Given the description of an element on the screen output the (x, y) to click on. 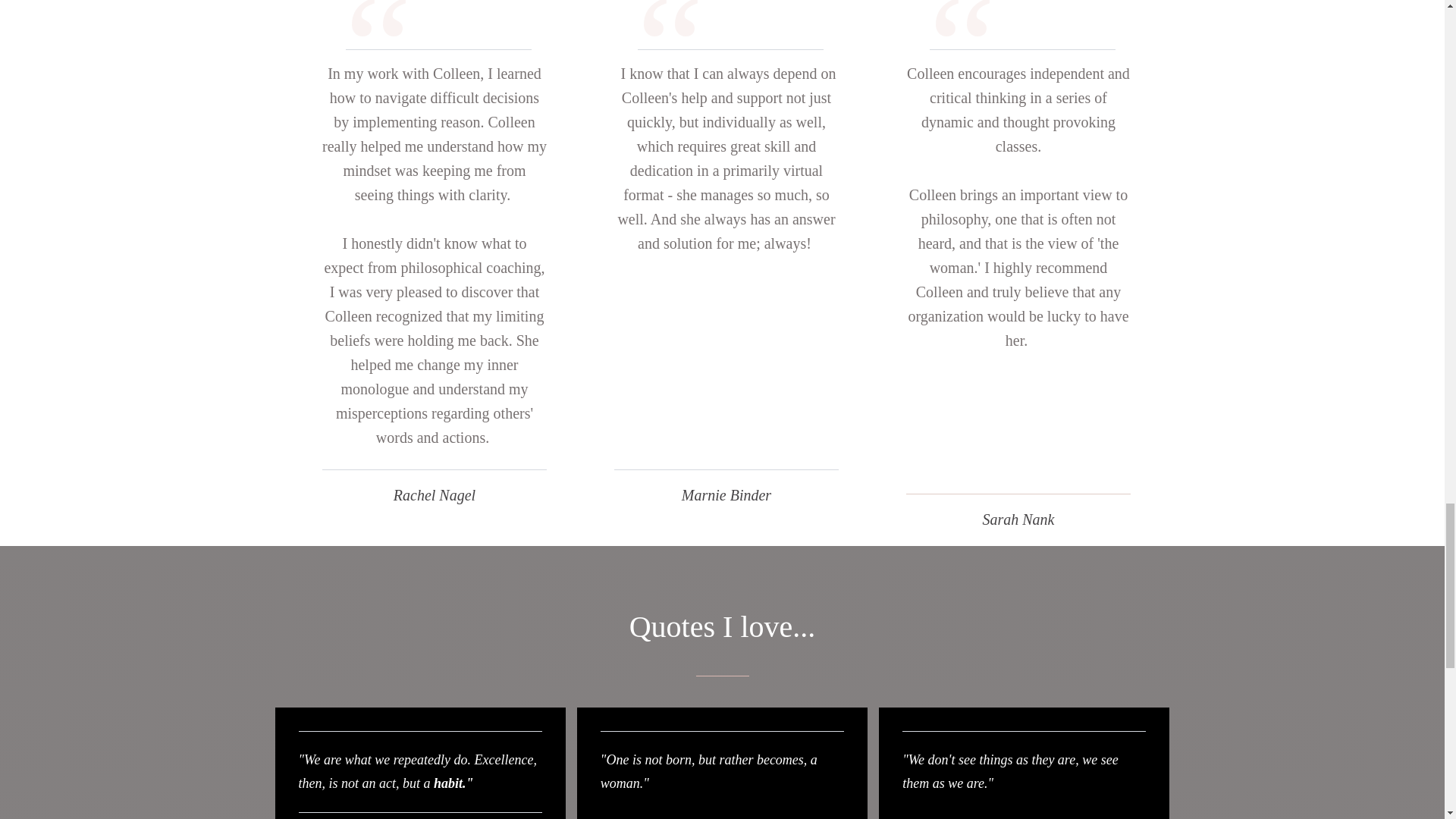
Sarah Nank (1017, 2)
Rachel Nagel (433, 2)
Marnie Binder (726, 2)
